Given the description of an element on the screen output the (x, y) to click on. 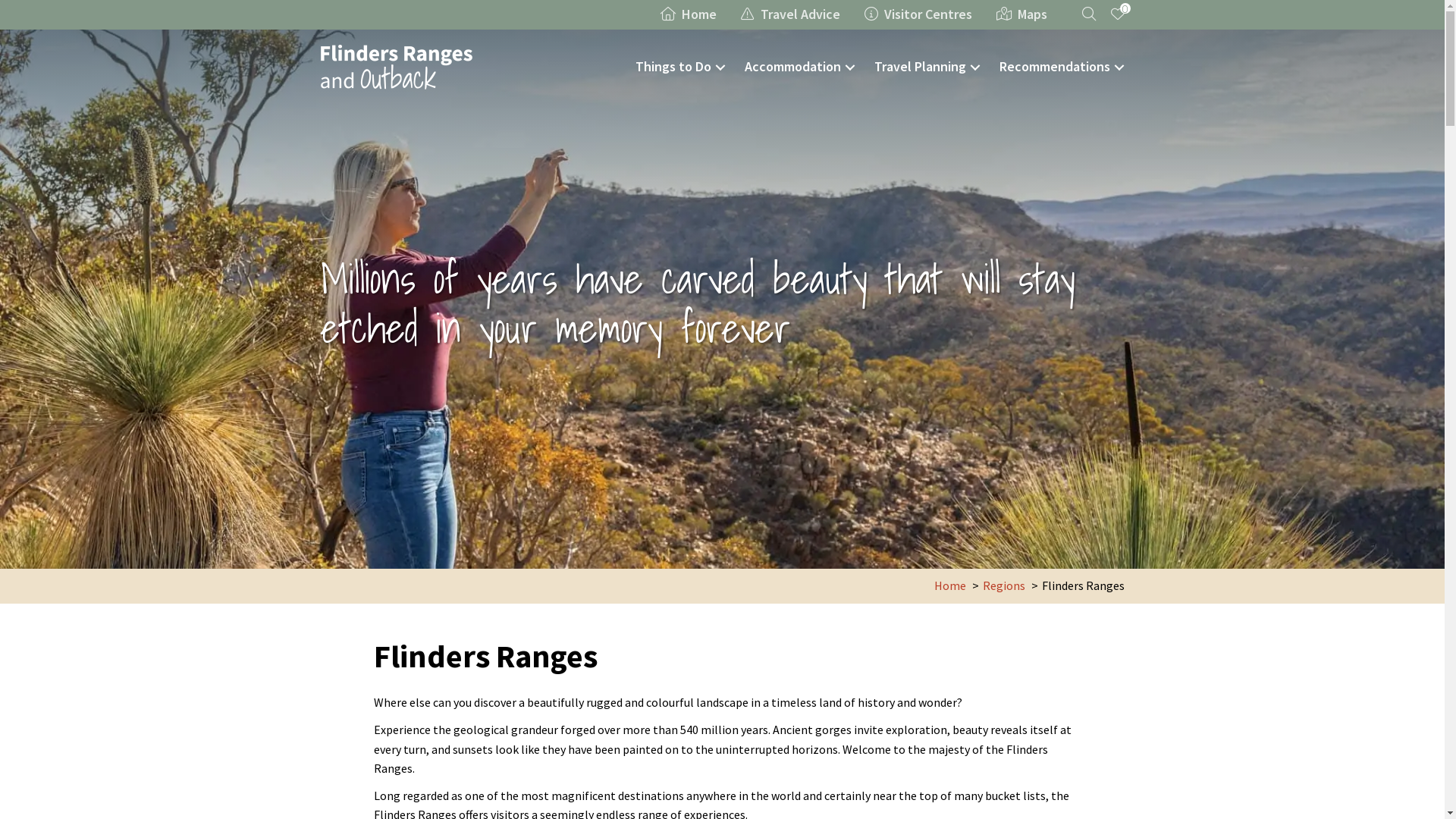
Accommodation Element type: text (801, 66)
Travel Planning Element type: text (928, 66)
FRO Web Logo Element type: hover (395, 66)
Home Element type: text (687, 14)
Maps Element type: text (1021, 14)
Travel Advice Element type: text (789, 14)
Recommendations Element type: text (1063, 66)
Things to Do Element type: text (682, 66)
Regions Element type: text (1003, 585)
0 Element type: text (1112, 14)
Visitor Centres Element type: text (918, 14)
Home Element type: text (950, 585)
